Given the description of an element on the screen output the (x, y) to click on. 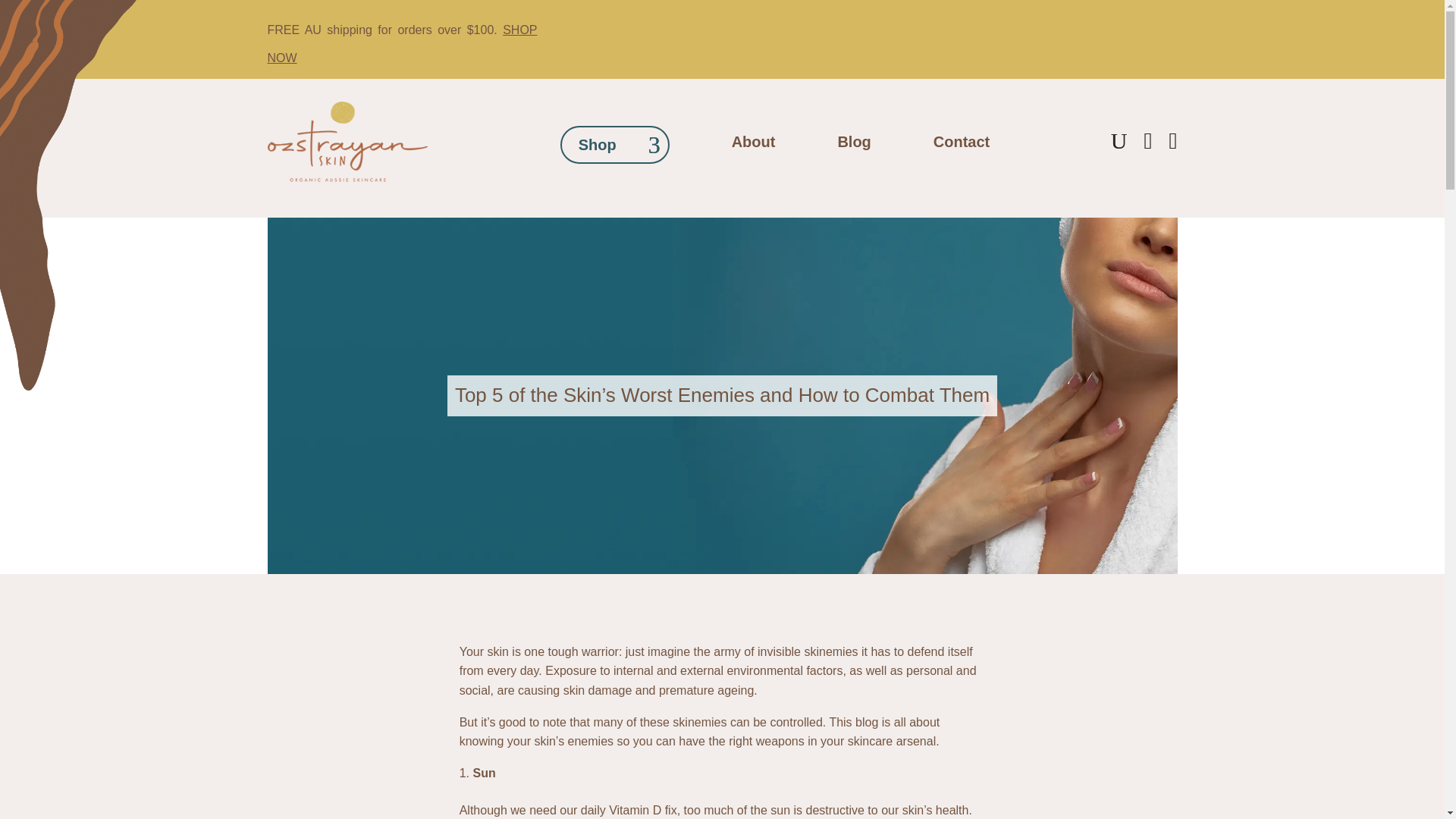
Blog (853, 144)
SHOP NOW (401, 43)
About (754, 144)
Shop (614, 144)
Contact (961, 144)
